Given the description of an element on the screen output the (x, y) to click on. 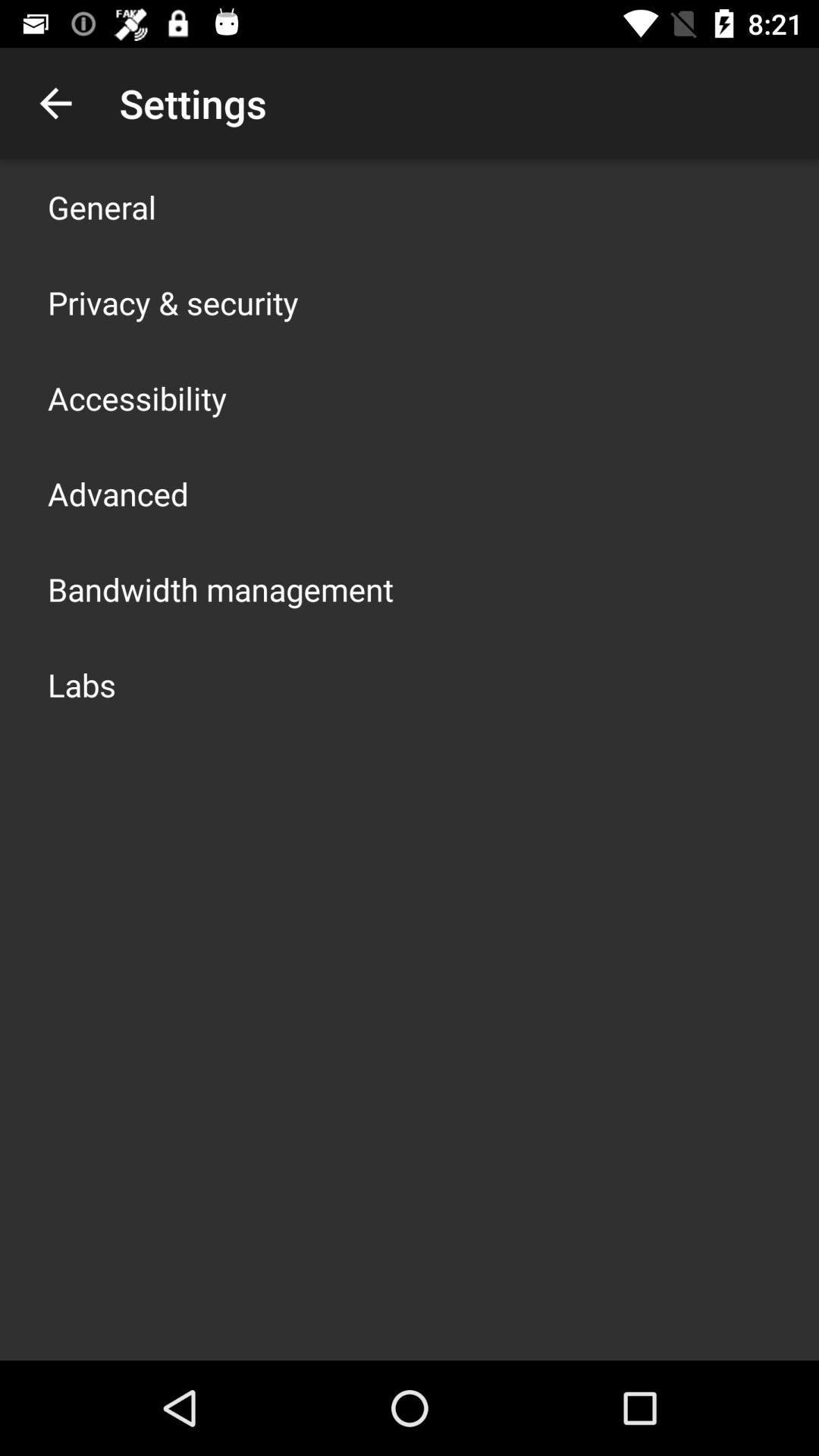
flip until bandwidth management icon (220, 588)
